Given the description of an element on the screen output the (x, y) to click on. 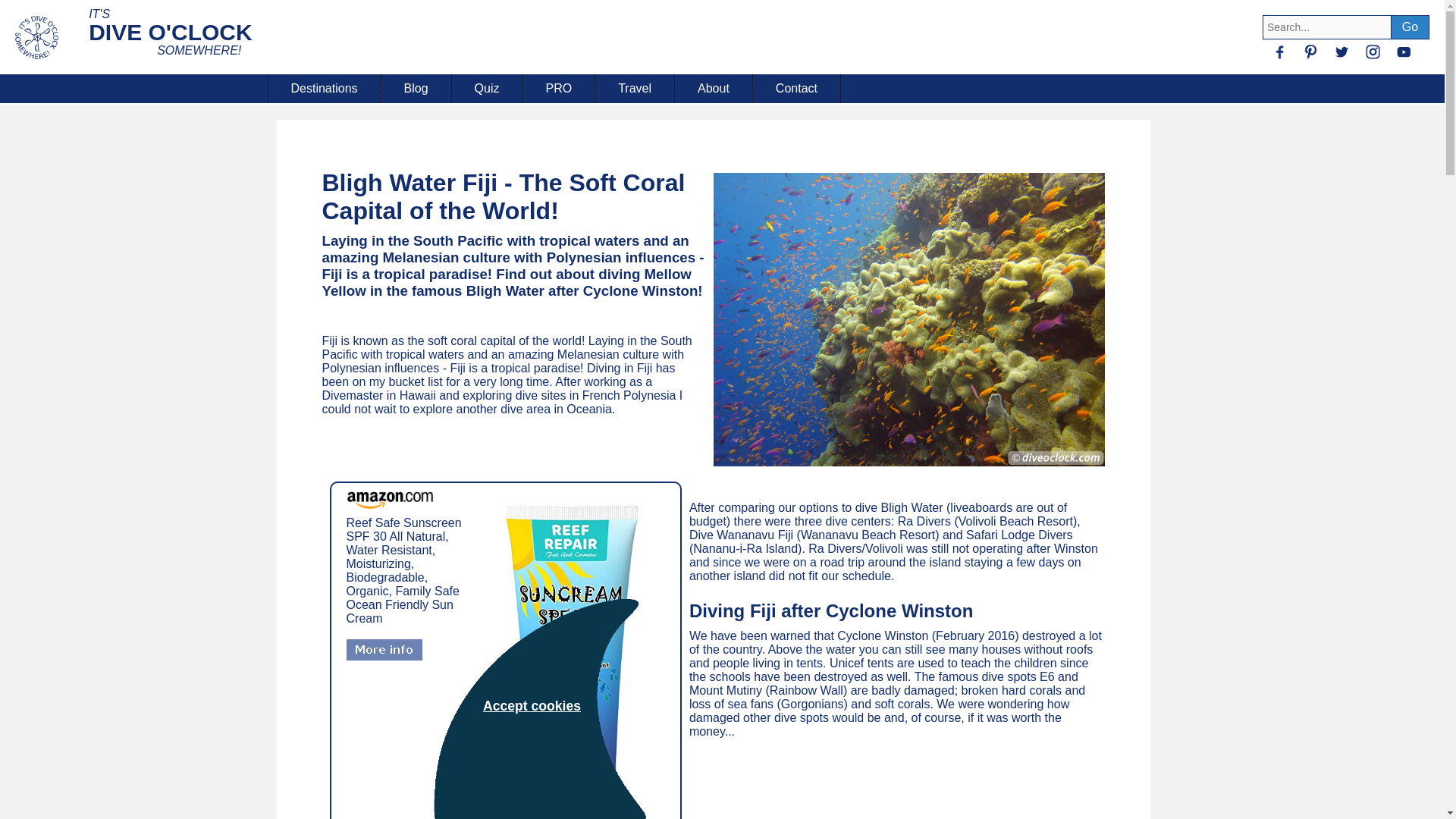
Quiz (486, 88)
PRO (558, 88)
Go (1410, 27)
About (713, 88)
Destinations (323, 88)
Travel (635, 88)
Contact (796, 88)
DIVE O'CLOCK (169, 32)
Blog (416, 88)
